Given the description of an element on the screen output the (x, y) to click on. 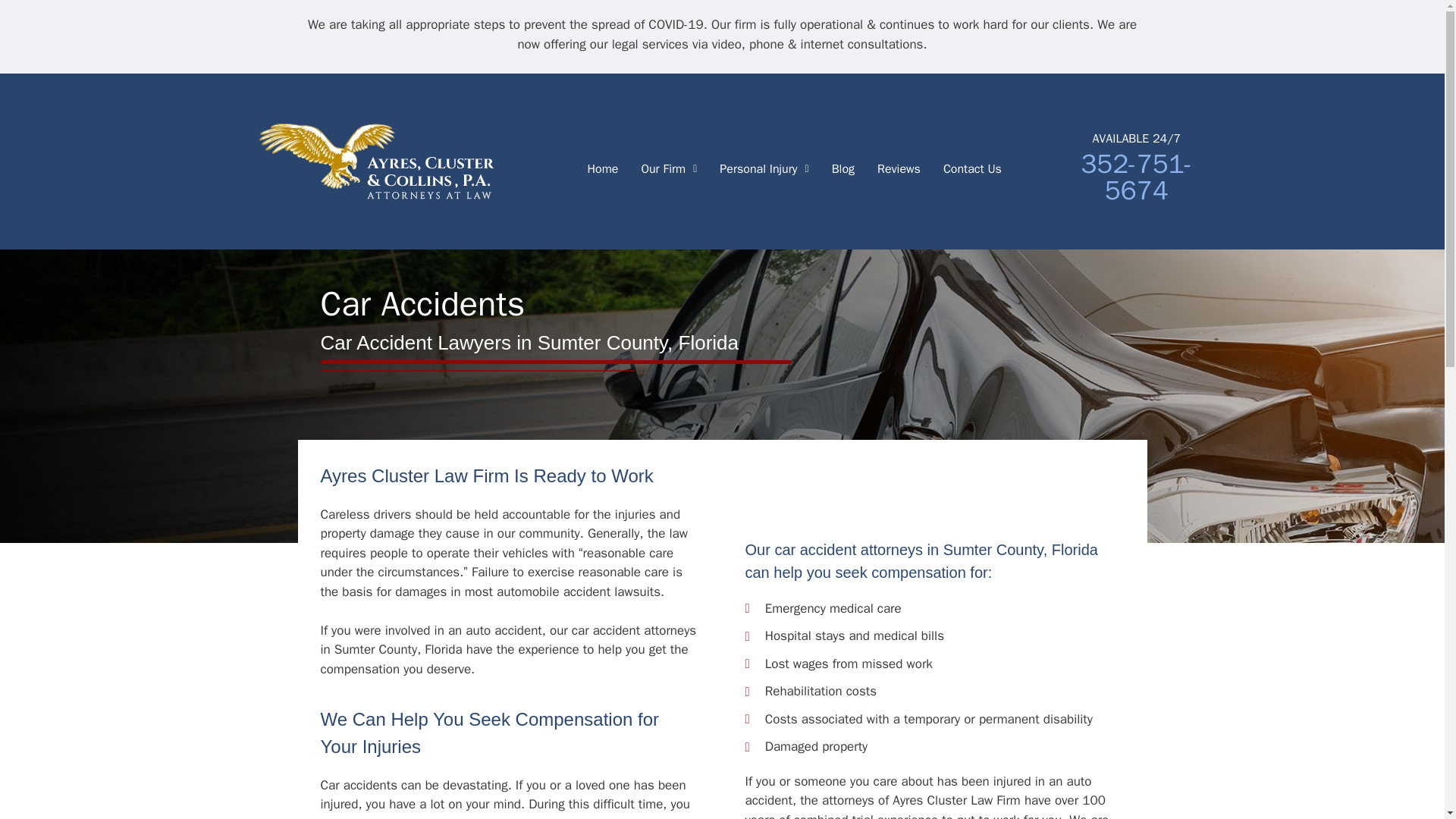
Home (601, 168)
Contact Us (972, 168)
Our Firm (667, 168)
Blog (843, 168)
Personal Injury (763, 168)
Reviews (898, 168)
352-751-5674 (1136, 177)
